Given the description of an element on the screen output the (x, y) to click on. 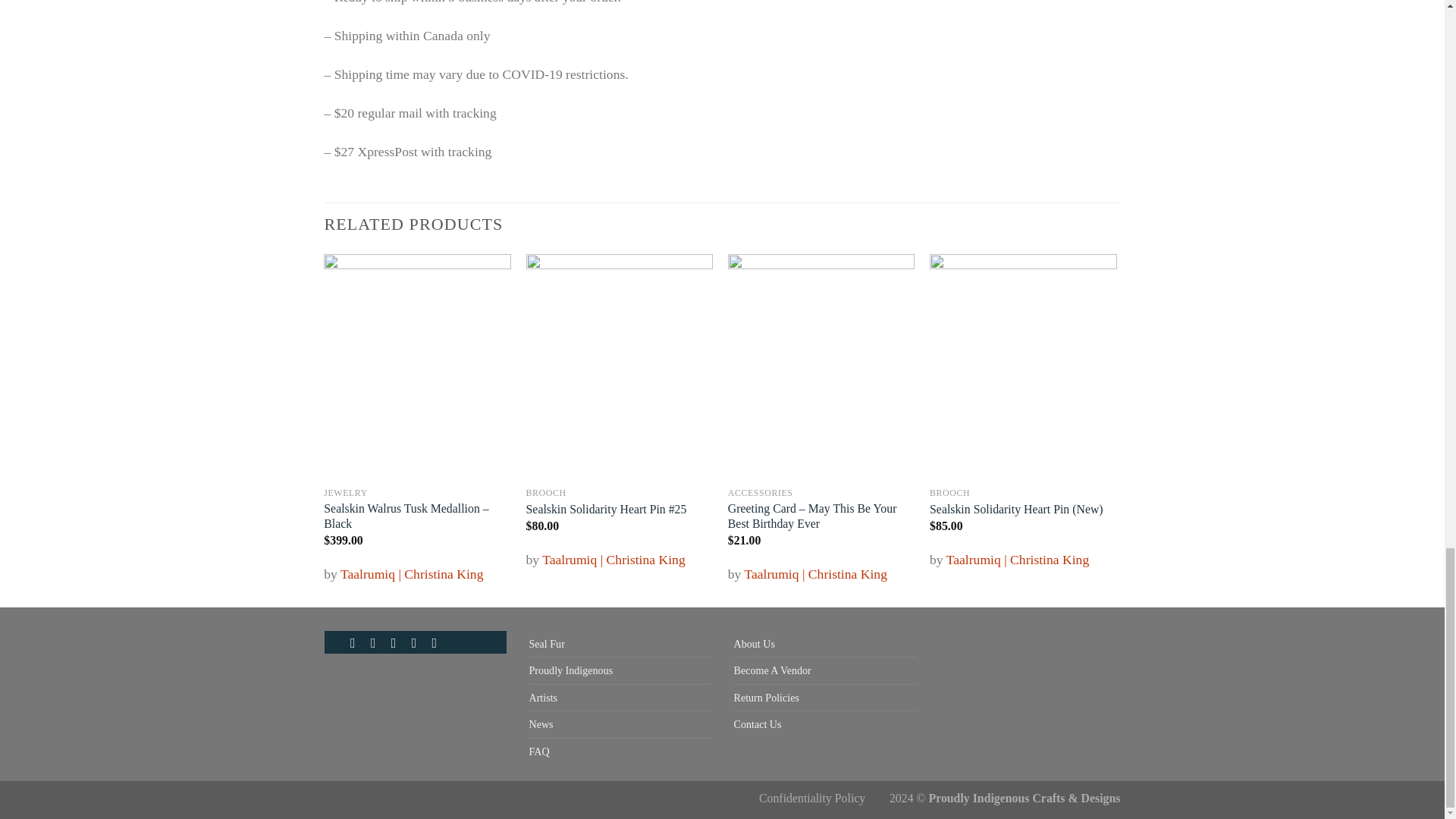
Follow on YouTube (438, 642)
Follow on TikTok (397, 642)
Follow on Instagram (377, 642)
Follow on Twitter (418, 642)
Follow on Facebook (357, 642)
